Given the description of an element on the screen output the (x, y) to click on. 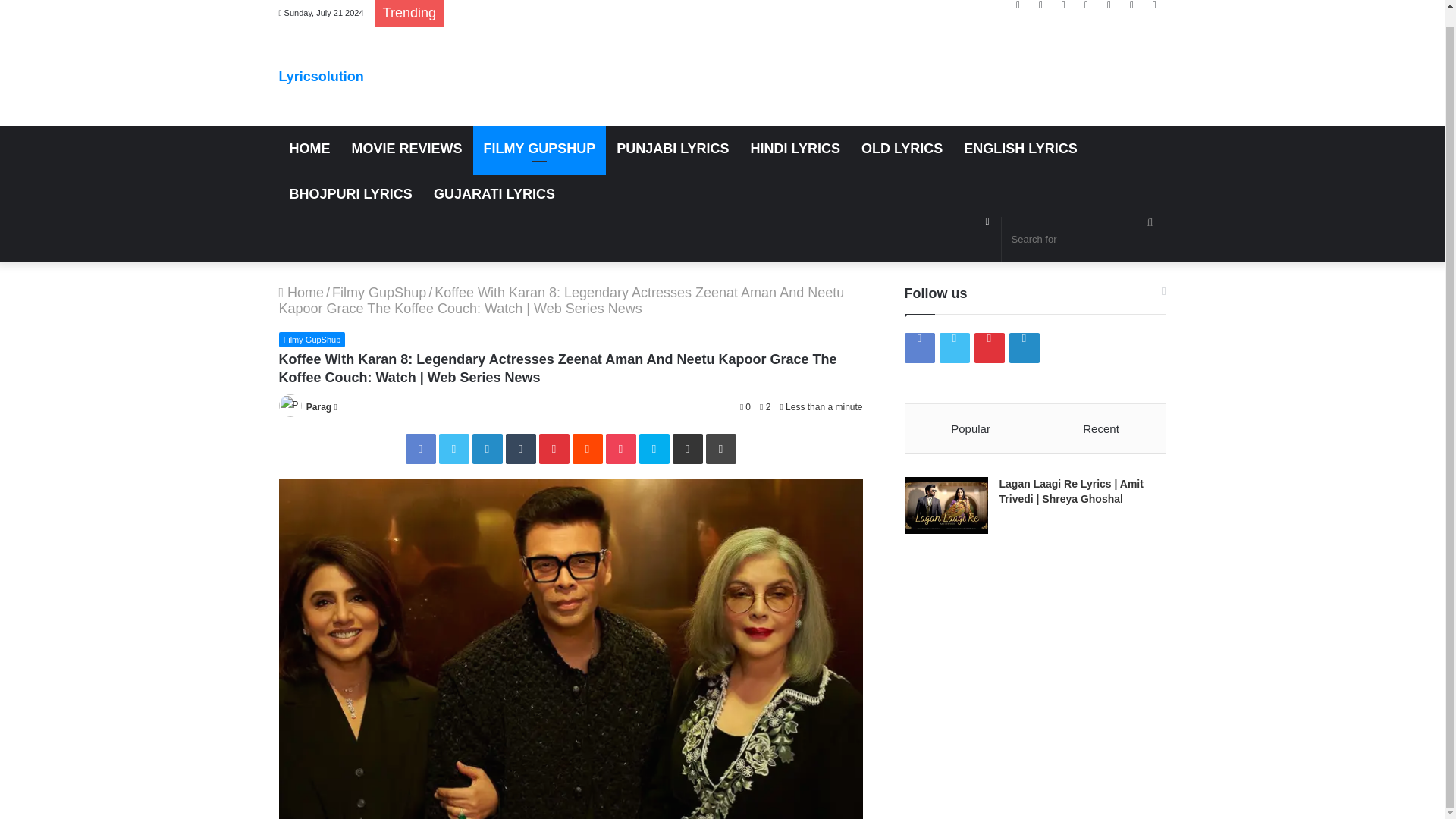
Sidebar (1154, 5)
LinkedIn (1086, 5)
BHOJPURI LYRICS (351, 194)
OLD LYRICS (901, 148)
Facebook (1018, 5)
Search for (1149, 222)
LinkedIn (486, 449)
HOME (309, 148)
FILMY GUPSHUP (540, 148)
Pinterest (1063, 5)
Random Article (1131, 5)
Lyricsolution (321, 76)
HINDI LYRICS (794, 148)
GUJARATI LYRICS (494, 194)
Random Article (987, 222)
